Given the description of an element on the screen output the (x, y) to click on. 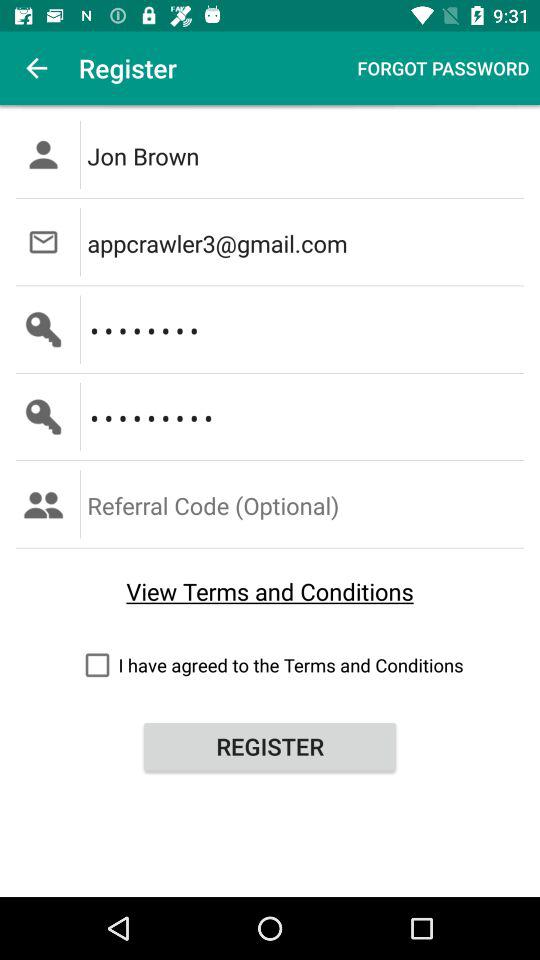
open the crowd3116 (306, 416)
